Given the description of an element on the screen output the (x, y) to click on. 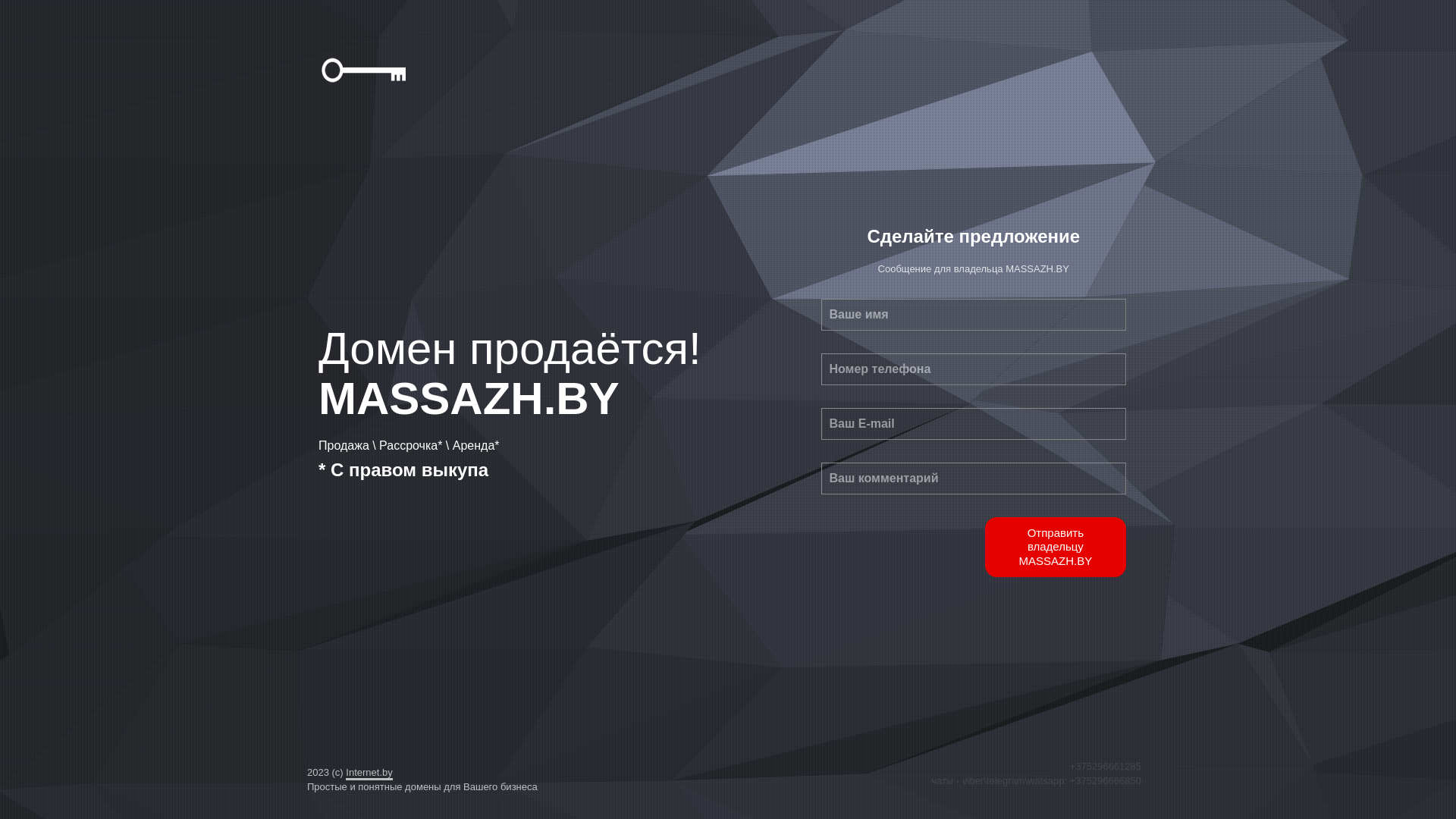
Internet.by Element type: text (368, 770)
+375296661285 Element type: text (1105, 765)
LiveInternet Element type: hover (0, 6)
